Given the description of an element on the screen output the (x, y) to click on. 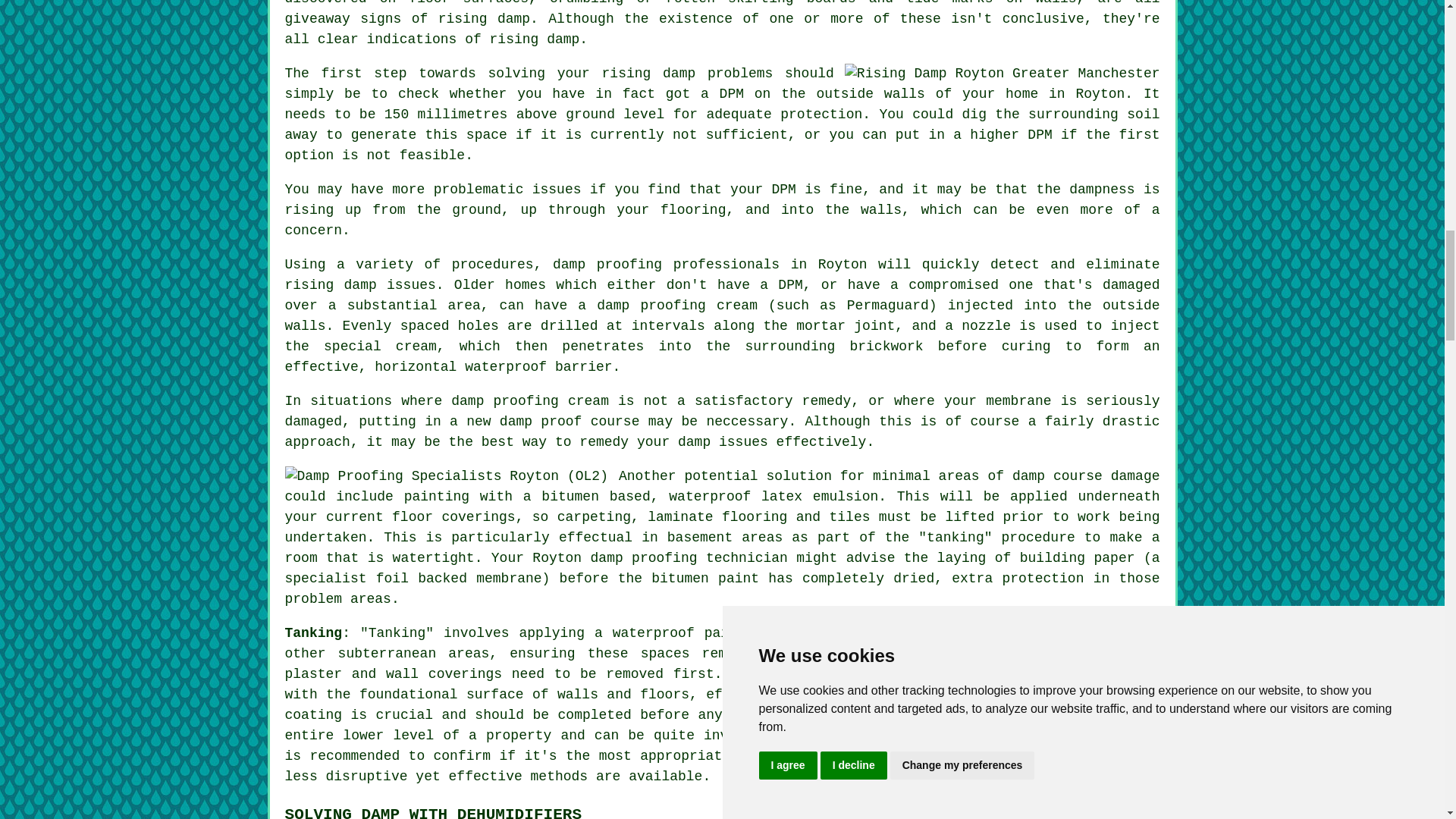
watertight coating (941, 673)
damp problems (998, 755)
Rising Damp Royton Greater Manchester (1002, 73)
